Given the description of an element on the screen output the (x, y) to click on. 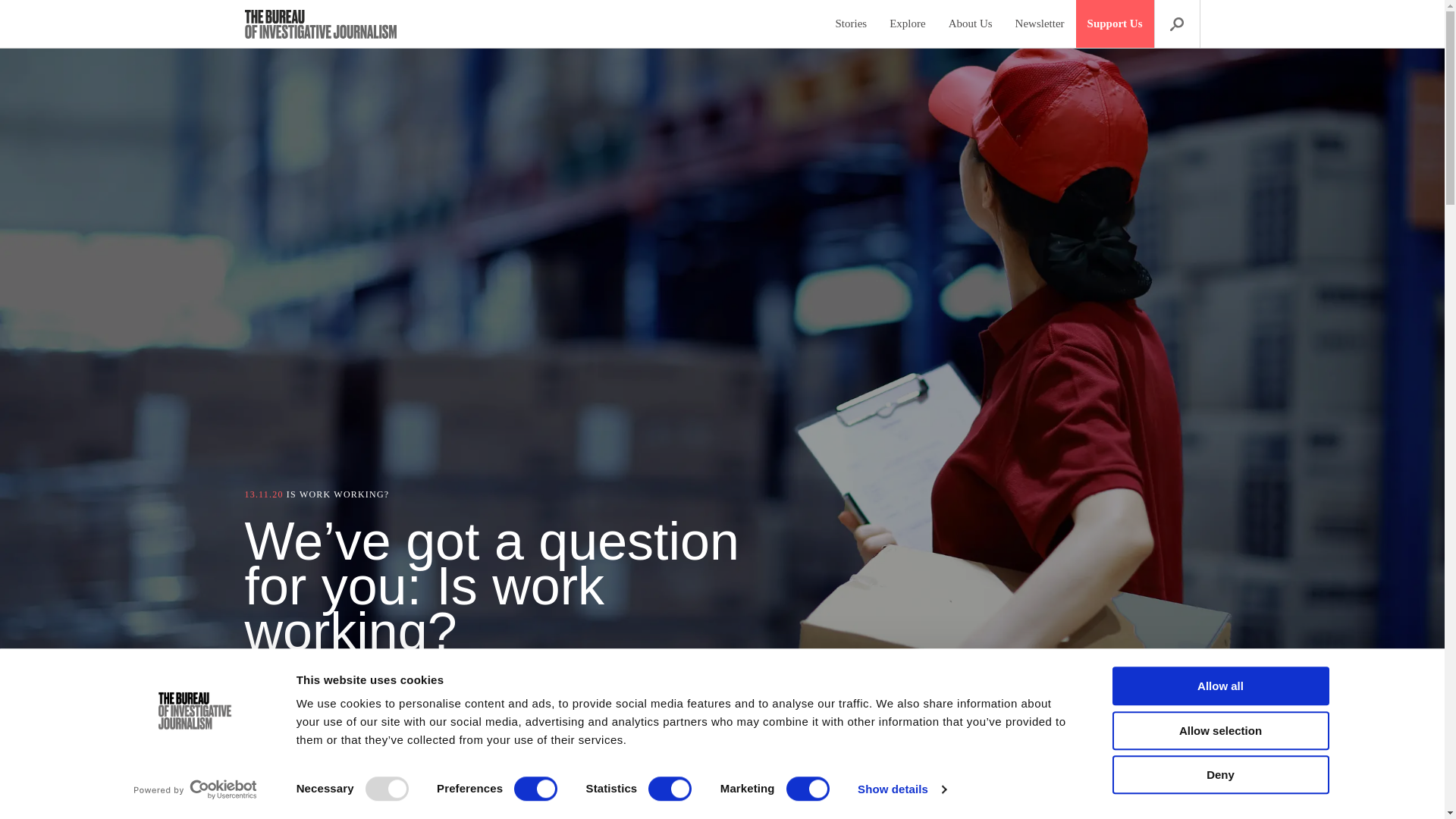
Show details (900, 789)
